Given the description of an element on the screen output the (x, y) to click on. 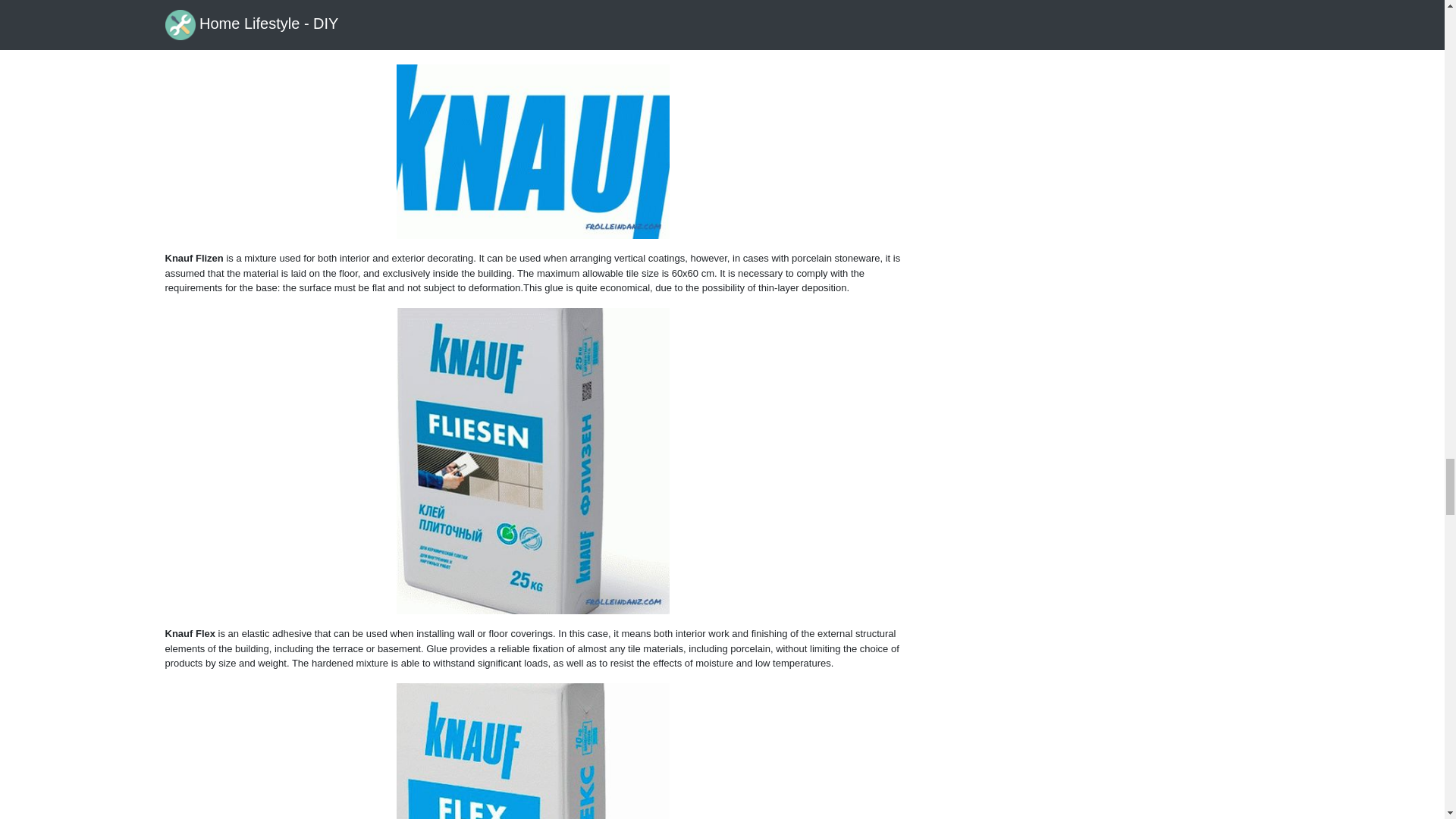
Glue for porcelain tiles - which one is better to choose (532, 151)
